Given the description of an element on the screen output the (x, y) to click on. 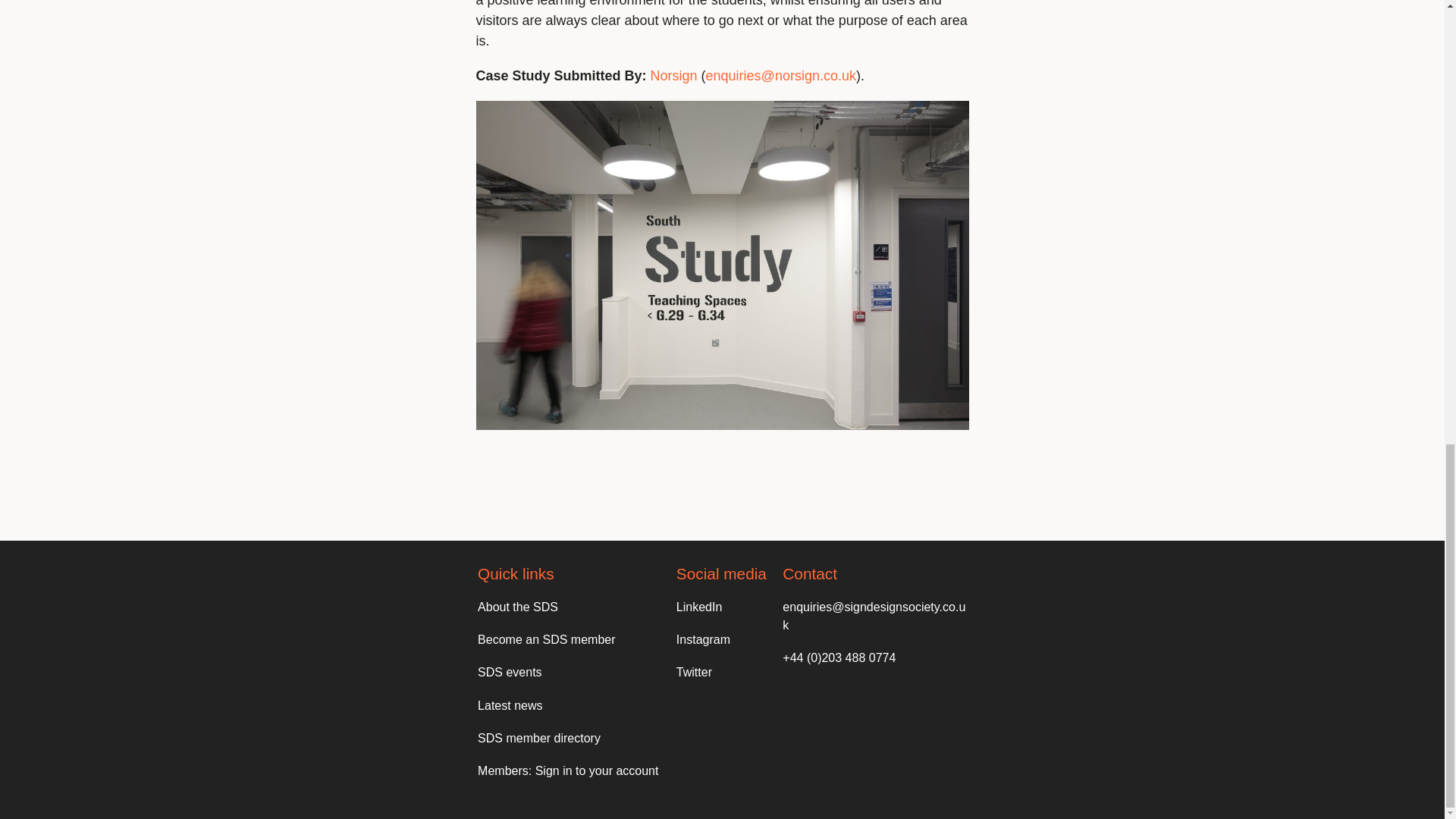
About the SDS (517, 606)
Latest news (509, 705)
Become an SDS member (545, 639)
Members: Sign in to your account (567, 770)
LinkedIn (699, 606)
SDS member directory (538, 738)
SDS events (509, 671)
Norsign (673, 75)
